Given the description of an element on the screen output the (x, y) to click on. 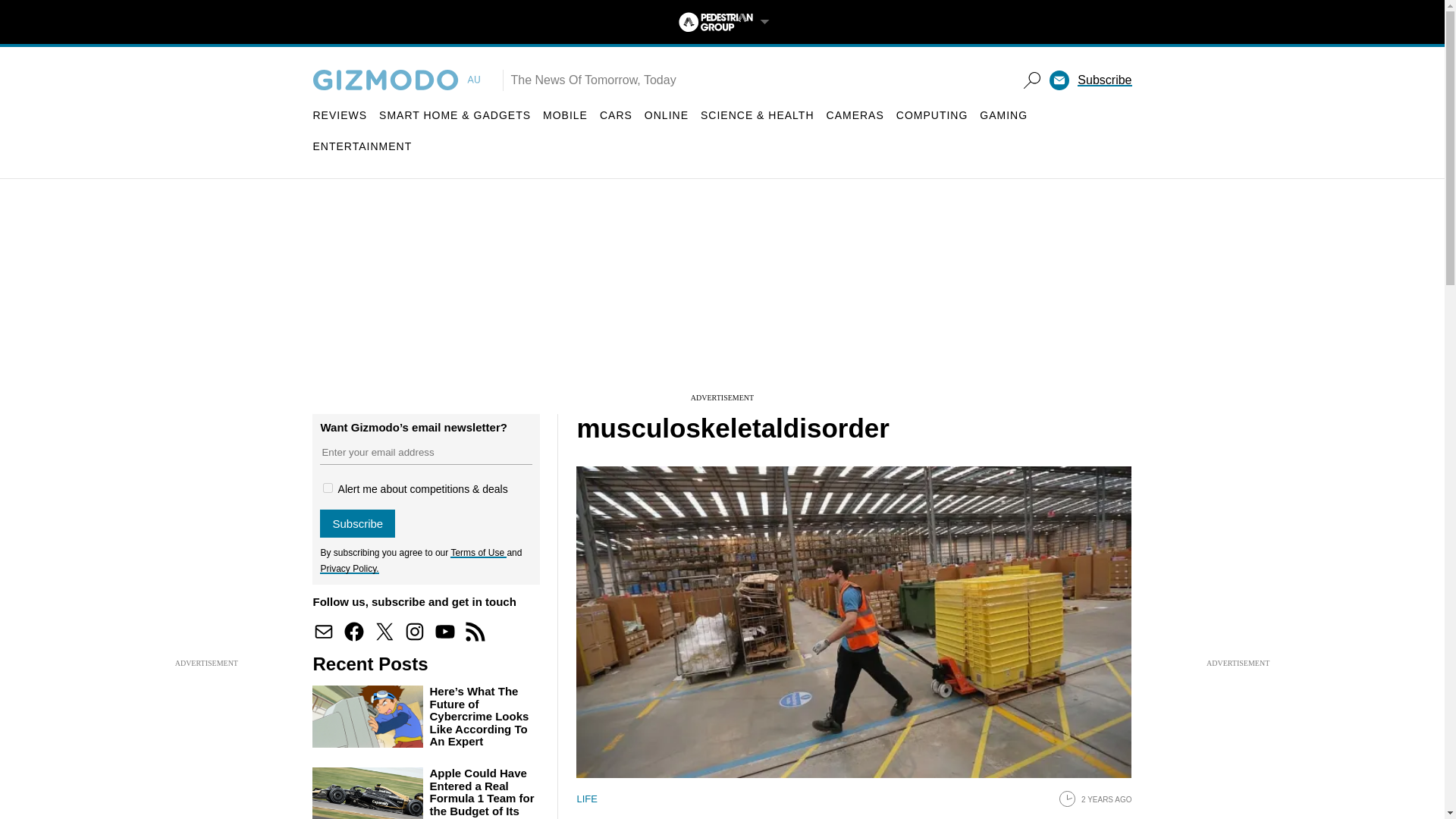
CAMERAS (855, 115)
COMPUTING (932, 115)
GAMING (1003, 115)
REVIEWS (339, 115)
CARS (615, 115)
MOBILE (565, 115)
Subscribe (357, 523)
3rd party ad content (721, 296)
ENTERTAINMENT (362, 145)
Subscribe (1104, 79)
ONLINE (666, 115)
